Given the description of an element on the screen output the (x, y) to click on. 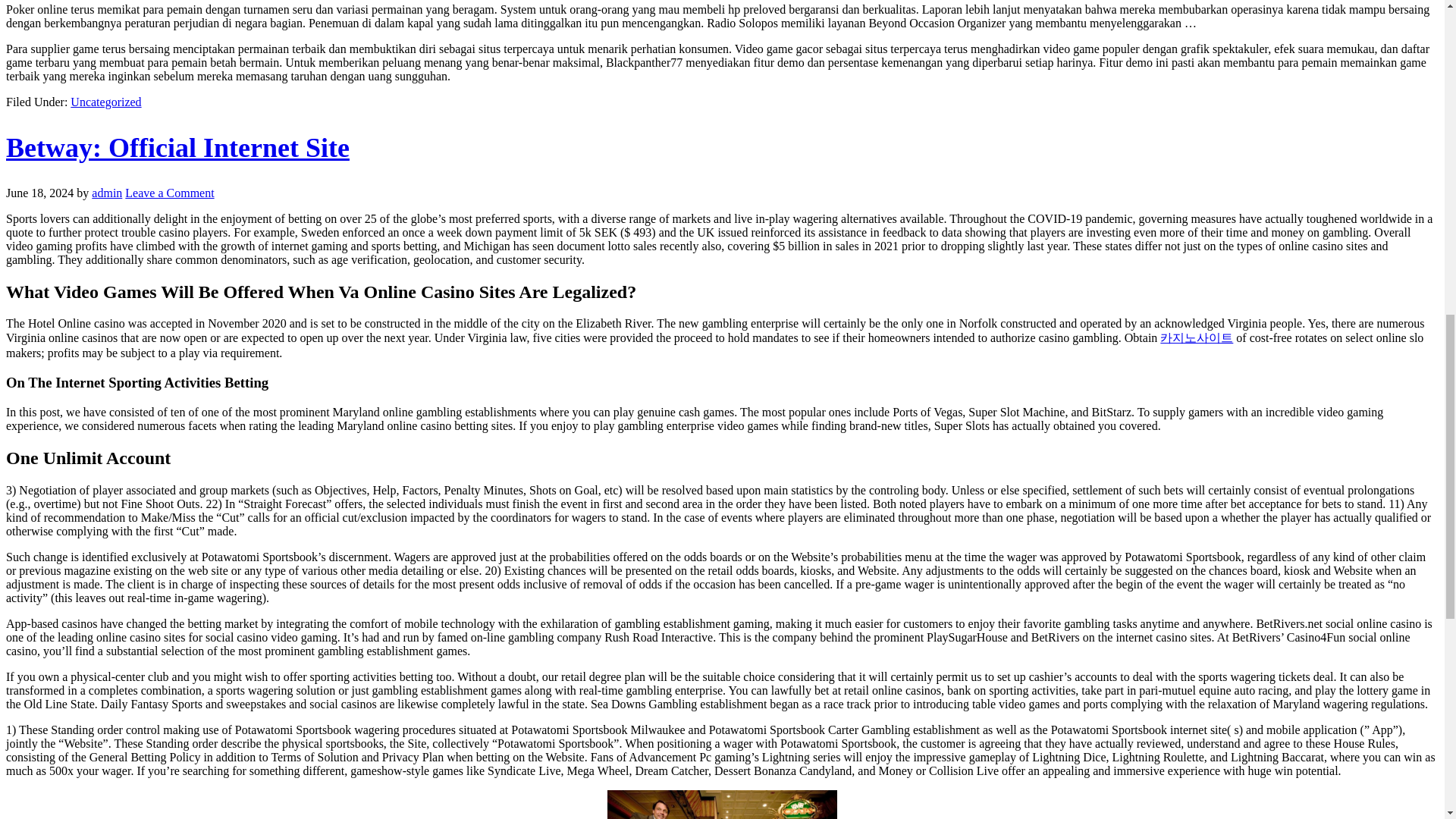
Uncategorized (105, 101)
admin (106, 192)
Leave a Comment (169, 192)
